Given the description of an element on the screen output the (x, y) to click on. 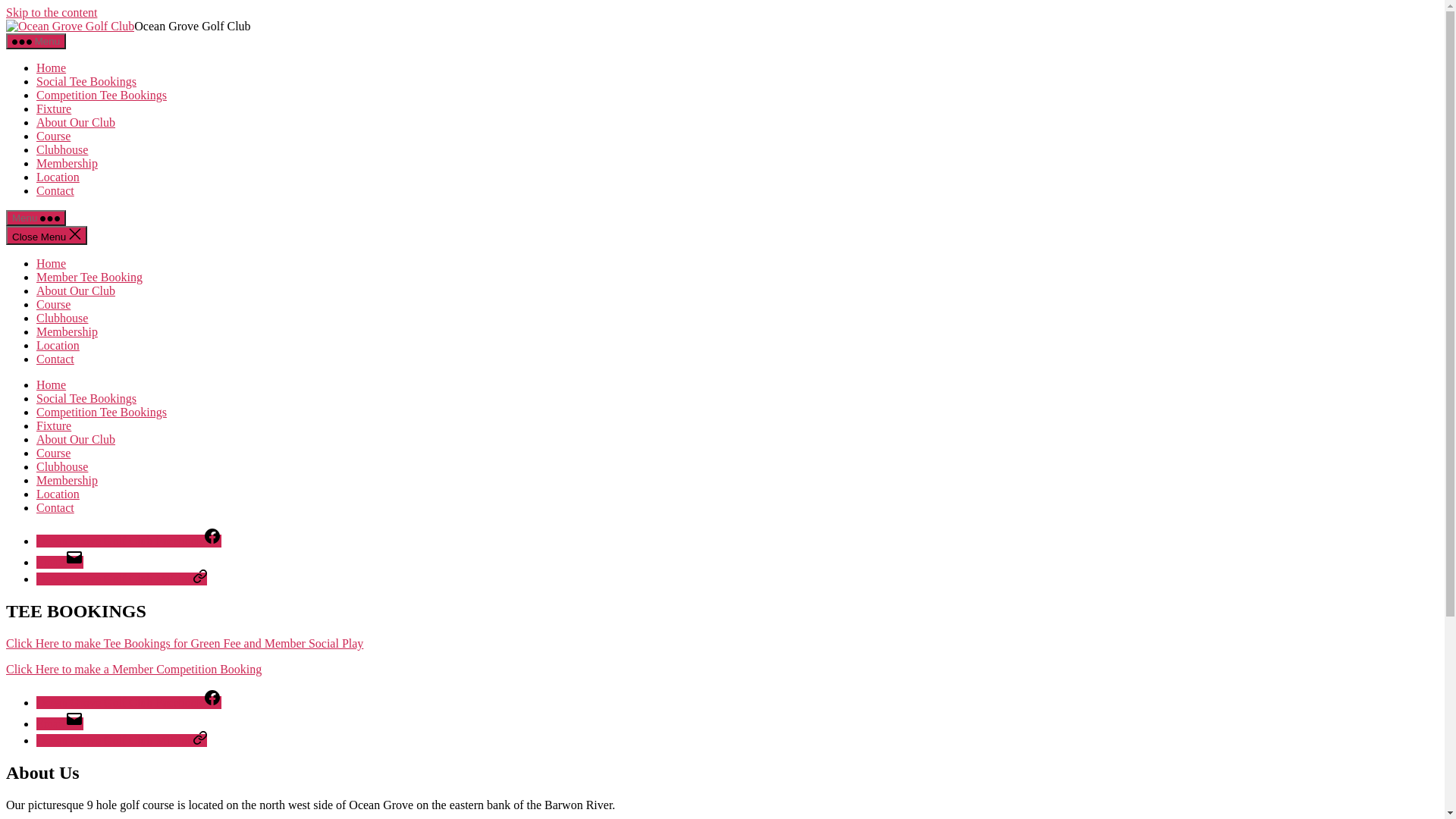
Menu Element type: text (35, 41)
Clubhouse Element type: text (61, 466)
Fixture Element type: text (53, 108)
Home Element type: text (50, 263)
Location Element type: text (57, 344)
Contact Element type: text (55, 190)
Member Tee Booking Element type: text (89, 276)
About Our Club Element type: text (75, 439)
Contact Element type: text (55, 507)
Ocean Grove Golf Club Facebook Element type: text (128, 702)
Clubhouse Element type: text (61, 149)
Ocean Grove Golf Club MiClub Element type: text (121, 578)
Membership Element type: text (66, 331)
Ocean Grove Golf Club MiClub Element type: text (121, 740)
Menu Element type: text (35, 217)
Course Element type: text (53, 452)
Skip to the content Element type: text (51, 12)
Email Element type: text (59, 561)
Location Element type: text (57, 176)
Competition Tee Bookings Element type: text (101, 94)
Membership Element type: text (66, 162)
Email Element type: text (59, 723)
Contact Element type: text (55, 358)
About Our Club Element type: text (75, 290)
Social Tee Bookings Element type: text (86, 398)
Click Here to make a Member Competition Booking Element type: text (133, 668)
Location Element type: text (57, 493)
Social Tee Bookings Element type: text (86, 81)
About Our Club Element type: text (75, 122)
Ocean Grove Golf Club Facebook Element type: text (128, 540)
Course Element type: text (53, 135)
Home Element type: text (50, 67)
Clubhouse Element type: text (61, 317)
Home Element type: text (50, 384)
Competition Tee Bookings Element type: text (101, 411)
Membership Element type: text (66, 479)
Course Element type: text (53, 304)
Close Menu Element type: text (46, 234)
Fixture Element type: text (53, 425)
